Given the description of an element on the screen output the (x, y) to click on. 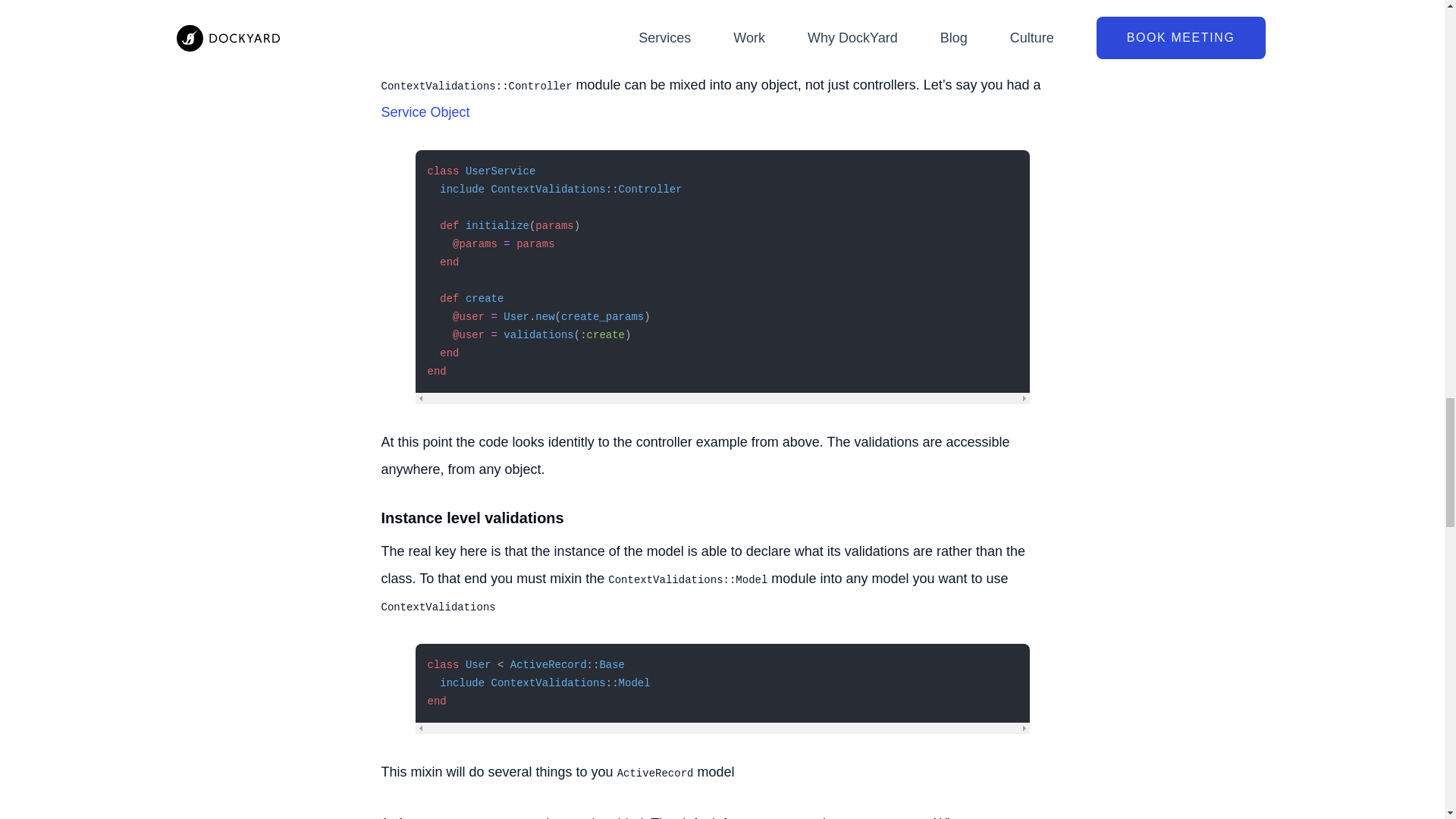
Form Objects (705, 5)
Service Object (424, 111)
